Given the description of an element on the screen output the (x, y) to click on. 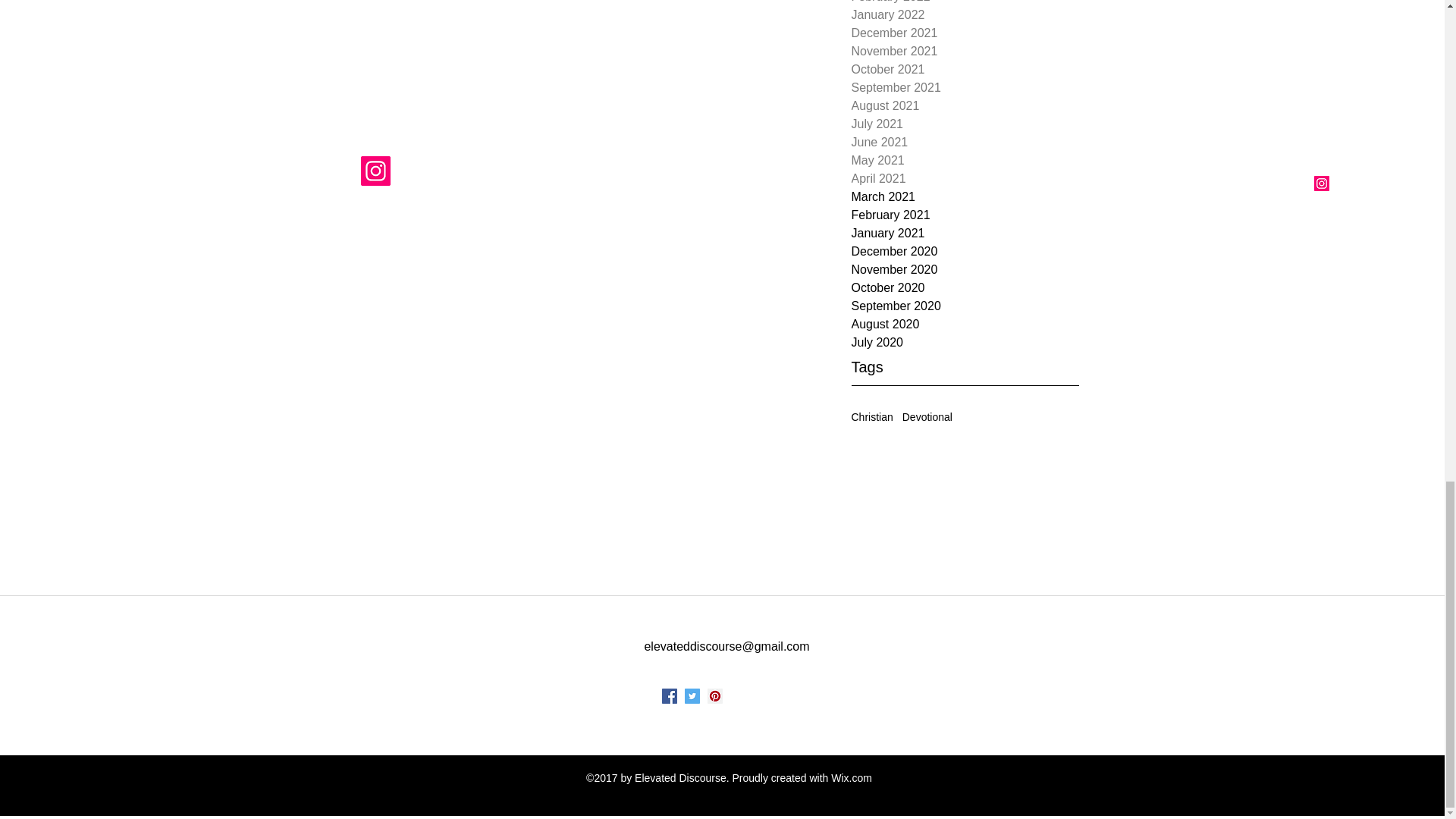
January 2022 (964, 14)
November 2021 (964, 51)
December 2021 (964, 33)
October 2021 (964, 69)
February 2022 (964, 2)
